Given the description of an element on the screen output the (x, y) to click on. 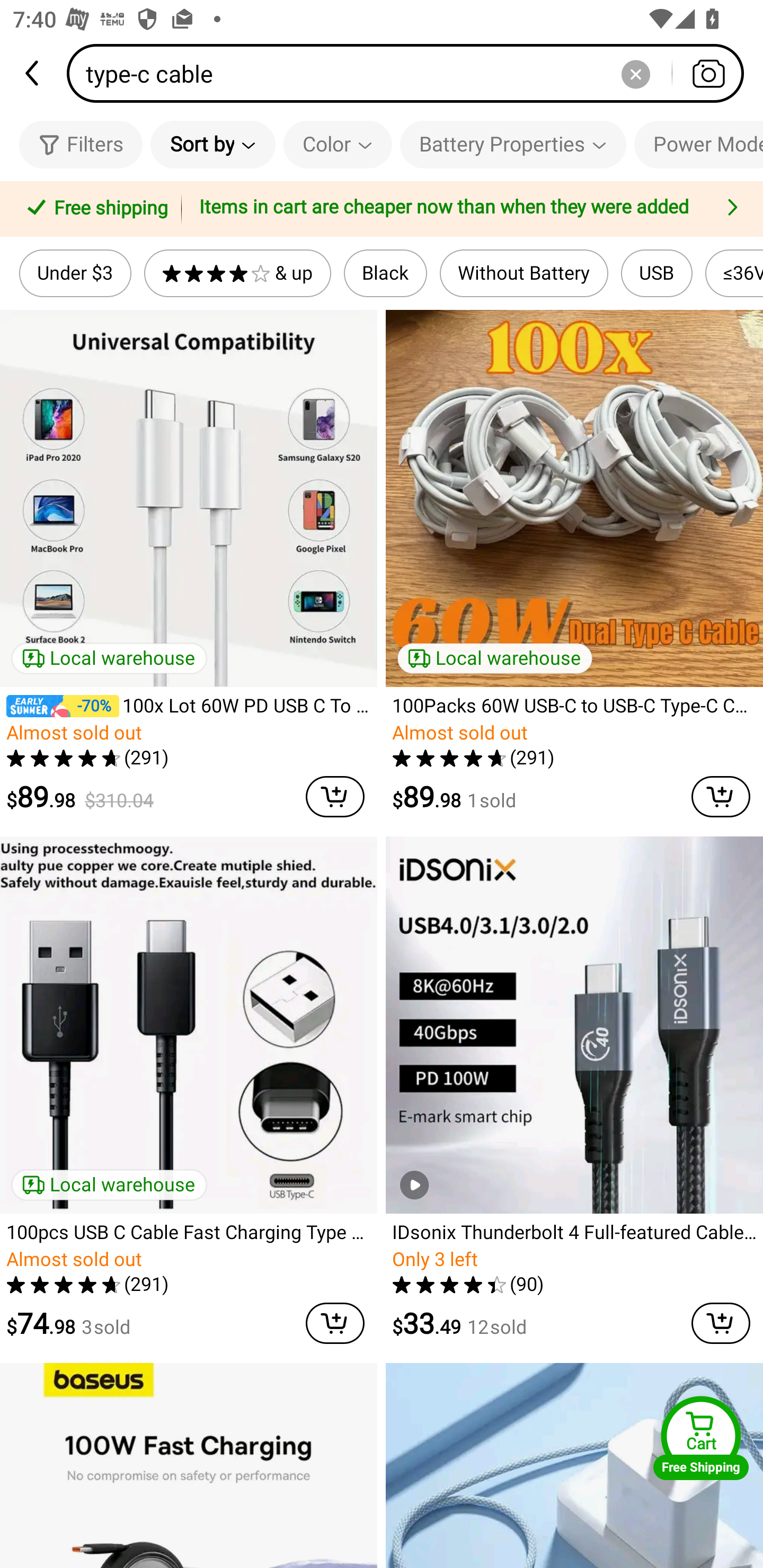
back (33, 72)
type-c cable (411, 73)
Delete search history (635, 73)
Search by photo (708, 73)
Filters (80, 143)
Sort by (212, 143)
Color (337, 143)
Battery Properties (512, 143)
Power Mode (698, 143)
 Free shipping (93, 208)
Under $3 (75, 273)
& up (237, 273)
Black (385, 273)
Without Battery (523, 273)
USB (656, 273)
Cart Free Shipping Cart (701, 1437)
